Given the description of an element on the screen output the (x, y) to click on. 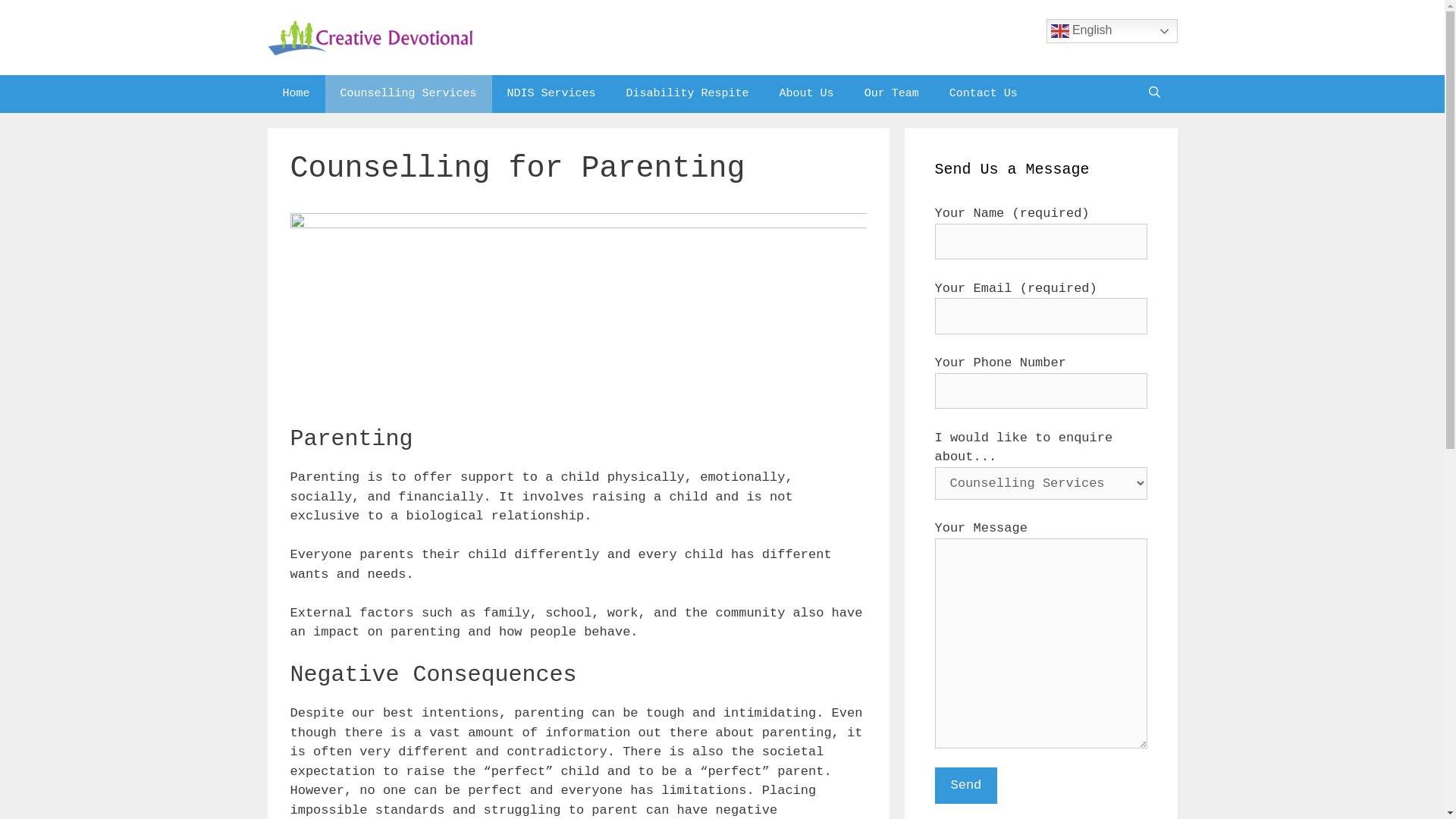
English Element type: text (1111, 30)
Send Element type: text (965, 785)
Home Element type: text (295, 93)
NDIS Services Element type: text (551, 93)
Disability Respite Element type: text (687, 93)
Contact Us Element type: text (983, 93)
Our Team Element type: text (891, 93)
About Us Element type: text (806, 93)
Counselling Services Element type: text (408, 93)
